Given the description of an element on the screen output the (x, y) to click on. 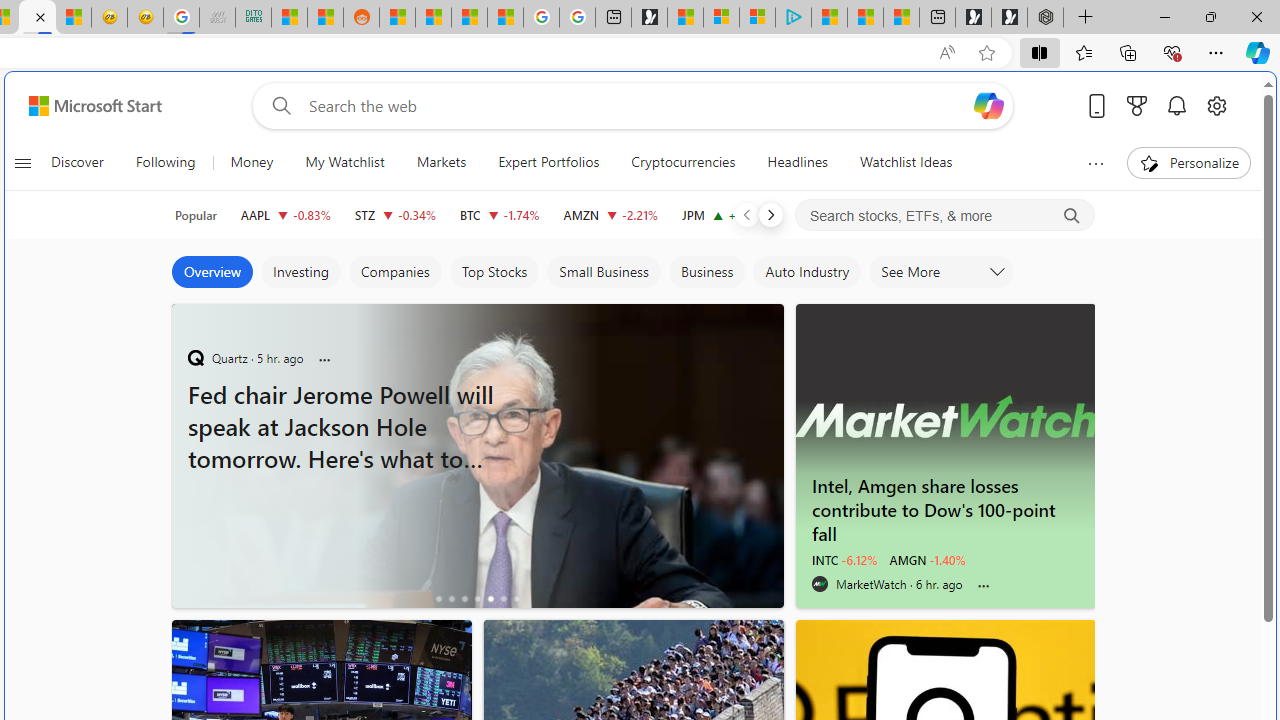
Cryptocurrencies (683, 162)
Headlines (797, 162)
See More (942, 272)
Business (707, 272)
My Watchlist (344, 162)
Overview (212, 272)
